Given the description of an element on the screen output the (x, y) to click on. 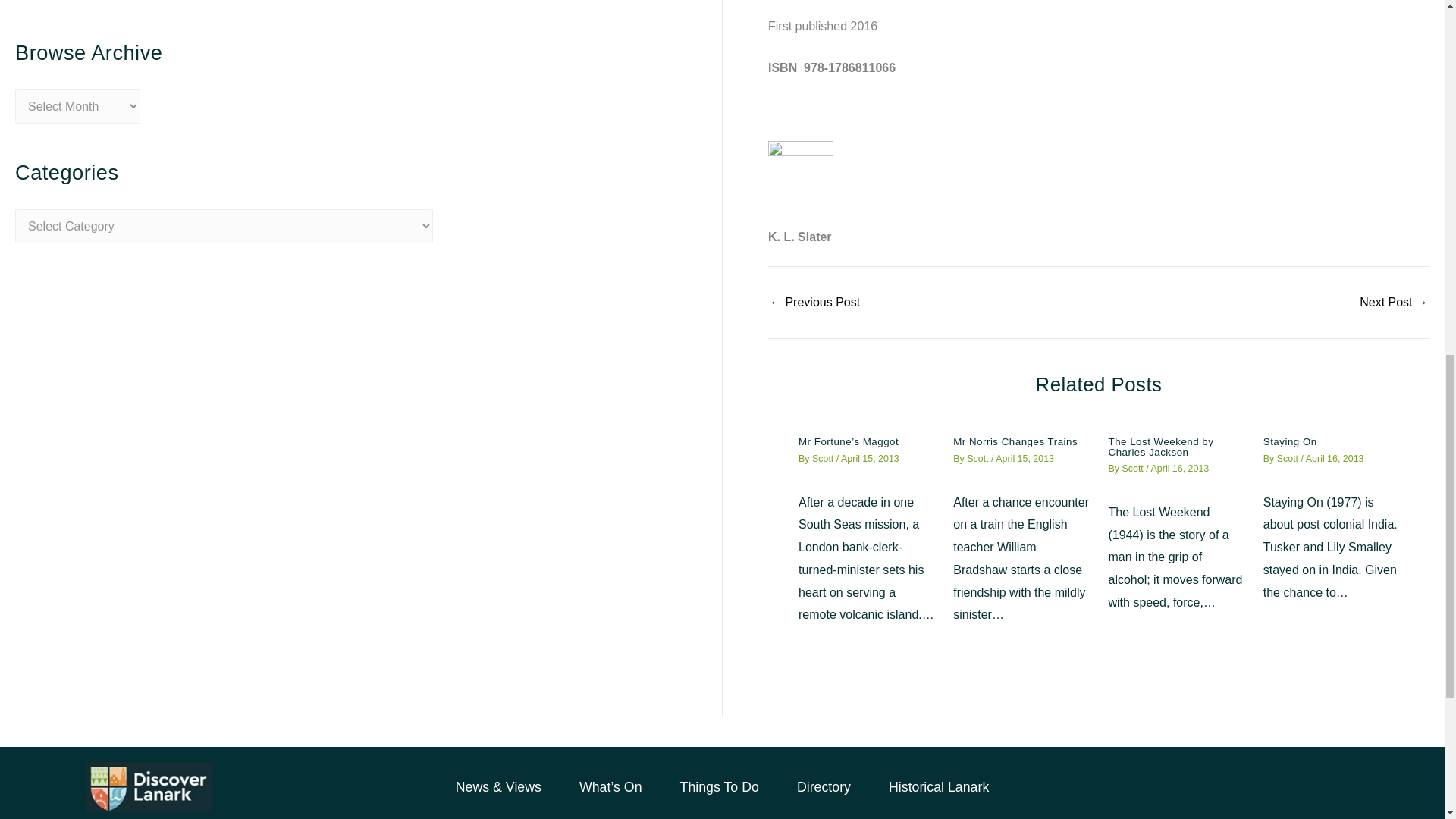
View all posts by Scott (1133, 468)
View all posts by Scott (978, 458)
Scott (978, 458)
View all posts by Scott (1288, 458)
Scott (823, 458)
Istanbul (815, 302)
Scott (1133, 468)
The Lost Weekend by Charles Jackson (1161, 446)
Mr Norris Changes Trains (1015, 441)
The Whistler (1393, 302)
